Given the description of an element on the screen output the (x, y) to click on. 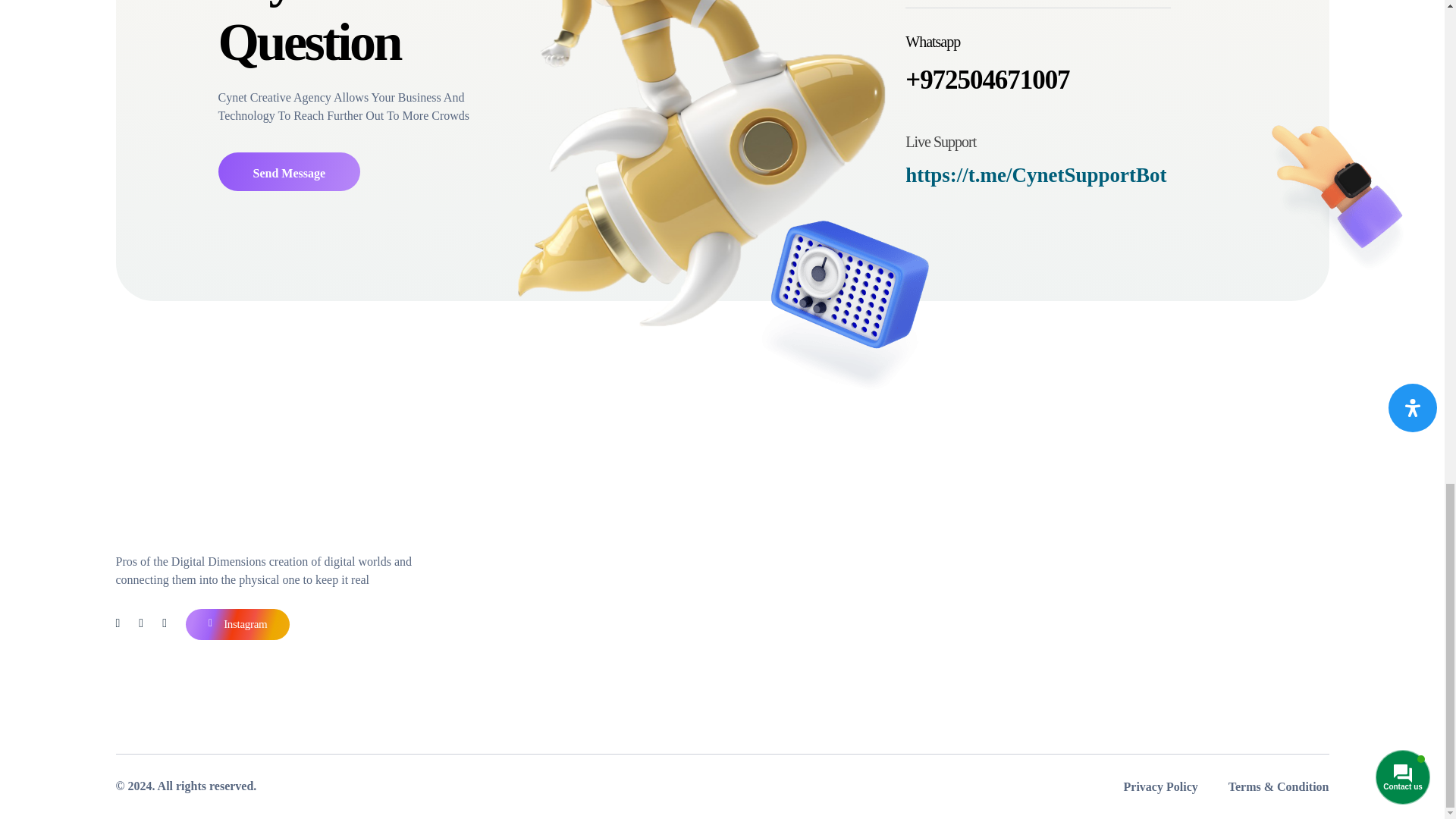
Send Message (289, 171)
Instagram (237, 624)
